Given the description of an element on the screen output the (x, y) to click on. 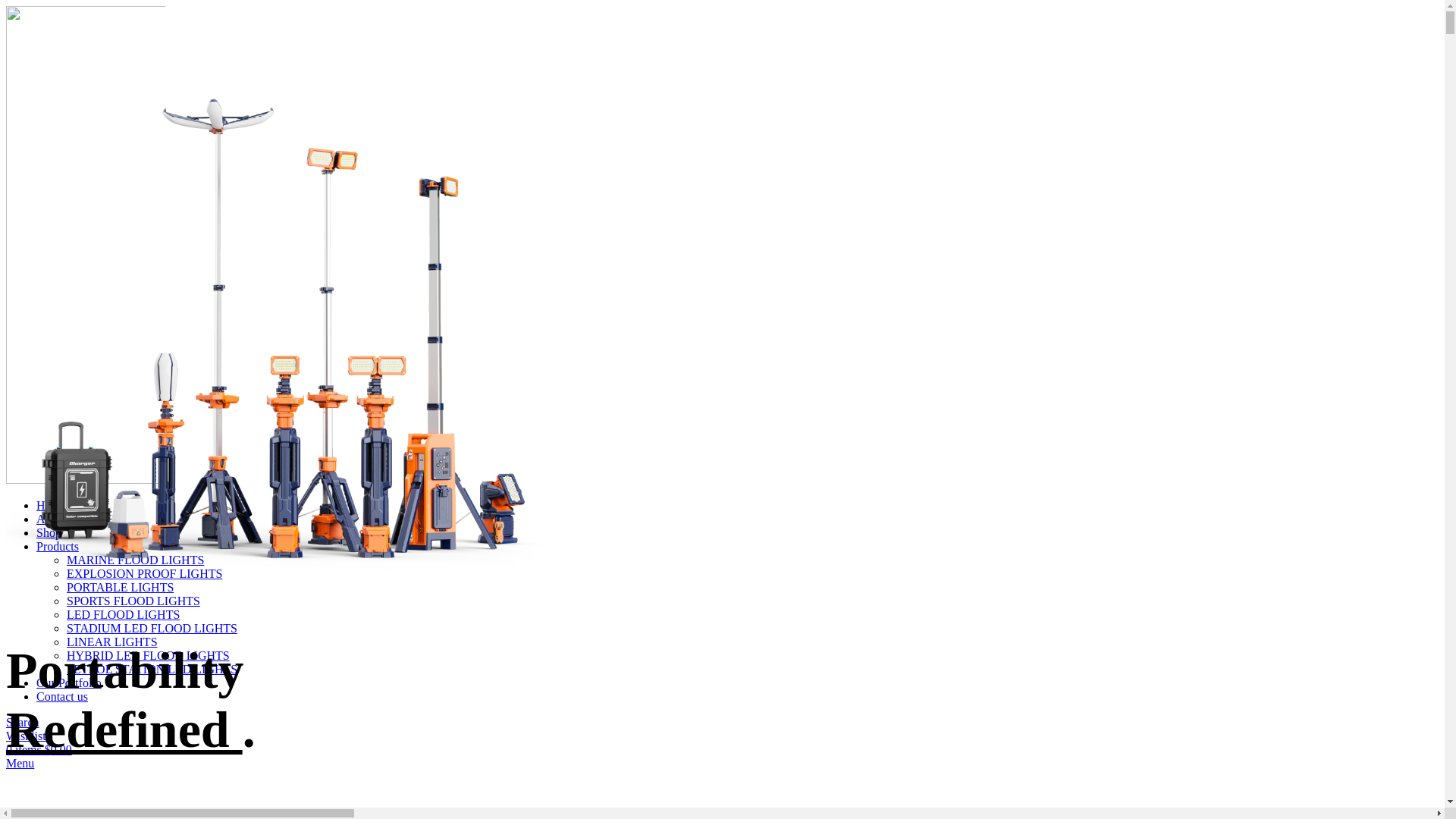
LINEAR LIGHTS Element type: text (111, 641)
LED FLOOD LIGHTS Element type: text (122, 614)
PETROL STATION LED LIGHTS Element type: text (151, 668)
MARINE FLOOD LIGHTS Element type: text (134, 559)
PORTABLE LIGHTS Element type: text (119, 586)
About us Element type: text (58, 518)
Wishlist Element type: text (26, 735)
Products Element type: text (57, 545)
HYBRID LED FLOOD LIGHTS Element type: text (147, 655)
Shop Element type: text (48, 532)
0 items $0.00 Element type: text (39, 749)
SPORTS FLOOD LIGHTS Element type: text (133, 600)
EXPLOSION PROOF LIGHTS Element type: text (144, 573)
Home Element type: text (50, 504)
Search Element type: text (22, 721)
Menu Element type: text (20, 762)
Contact us Element type: text (61, 696)
Our Portfolio Element type: text (68, 682)
STADIUM LED FLOOD LIGHTS Element type: text (151, 627)
